Given the description of an element on the screen output the (x, y) to click on. 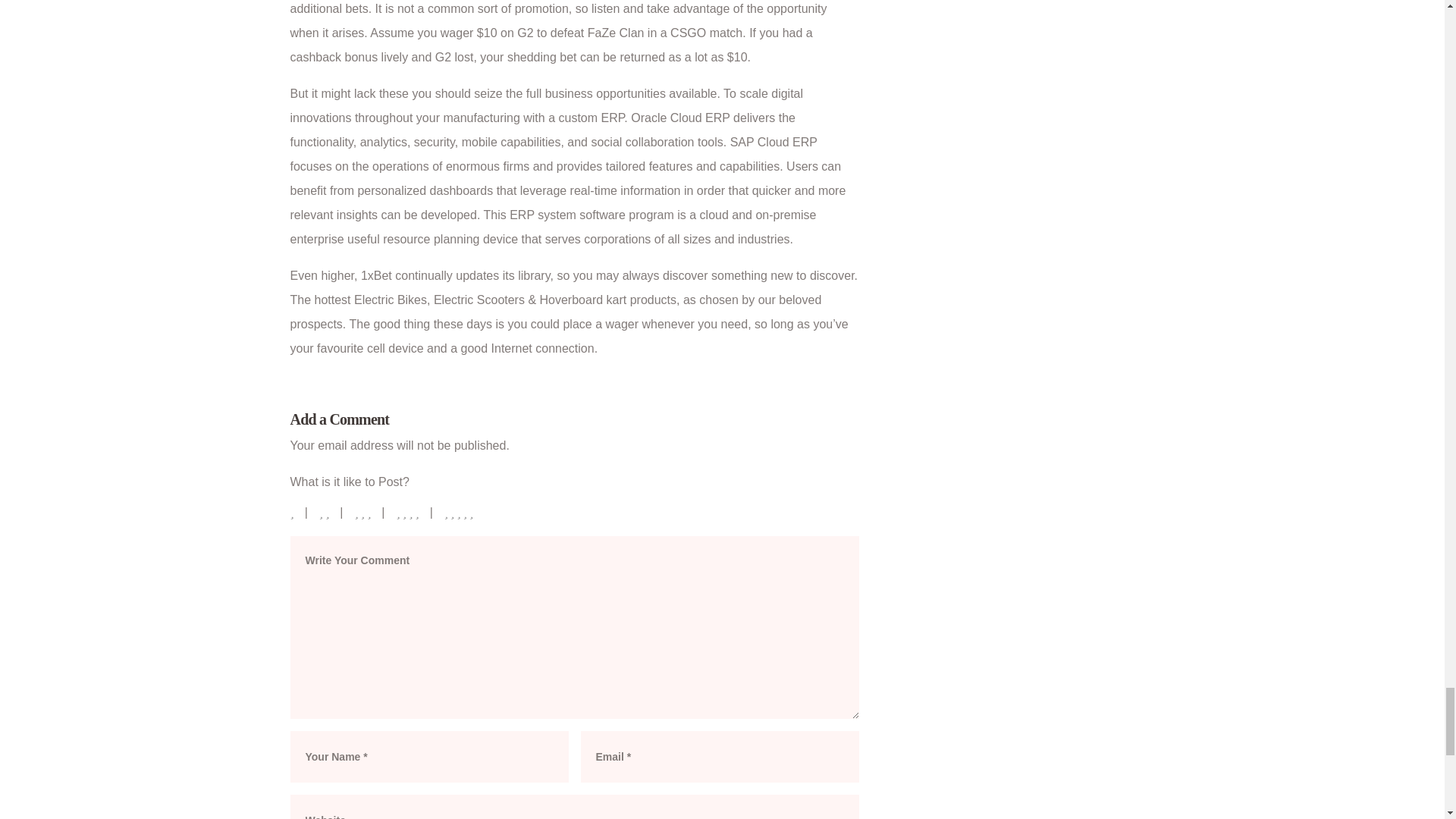
Very good - 4 stars (408, 512)
Bad - 2 stars (324, 512)
Excellent - 5 stars (460, 512)
Good - 3 stars (362, 512)
